Given the description of an element on the screen output the (x, y) to click on. 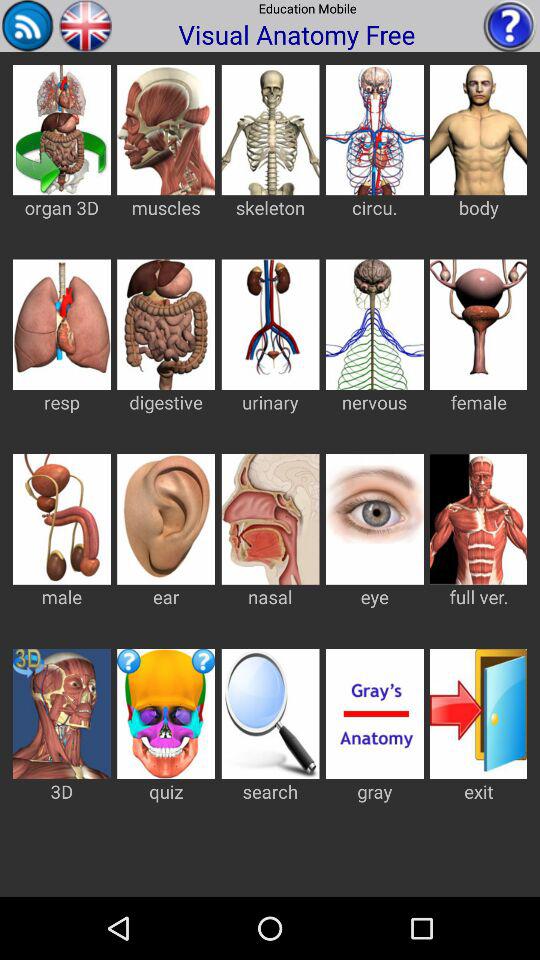
get more info (509, 25)
